Given the description of an element on the screen output the (x, y) to click on. 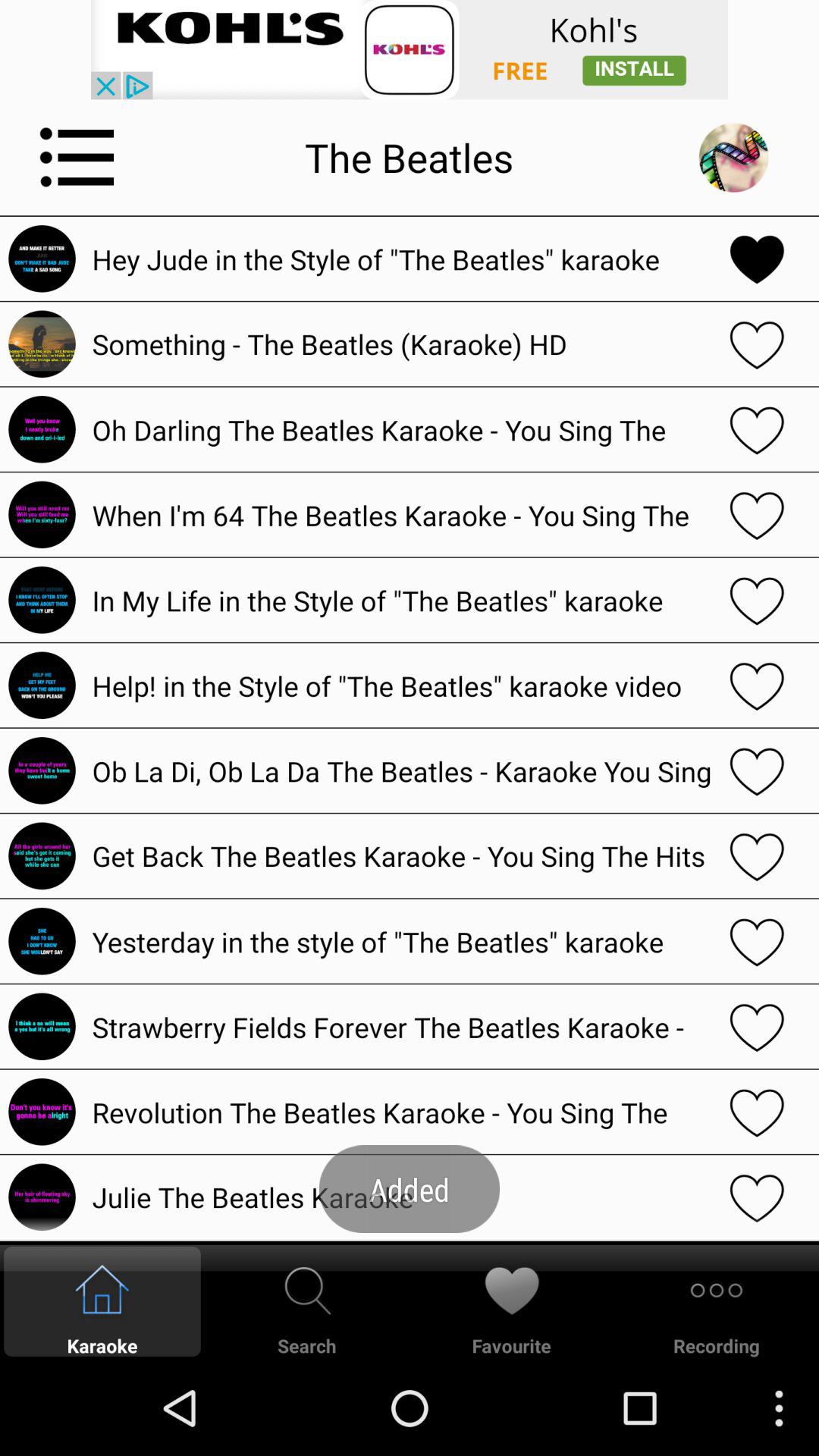
go to advertisement (409, 49)
